Given the description of an element on the screen output the (x, y) to click on. 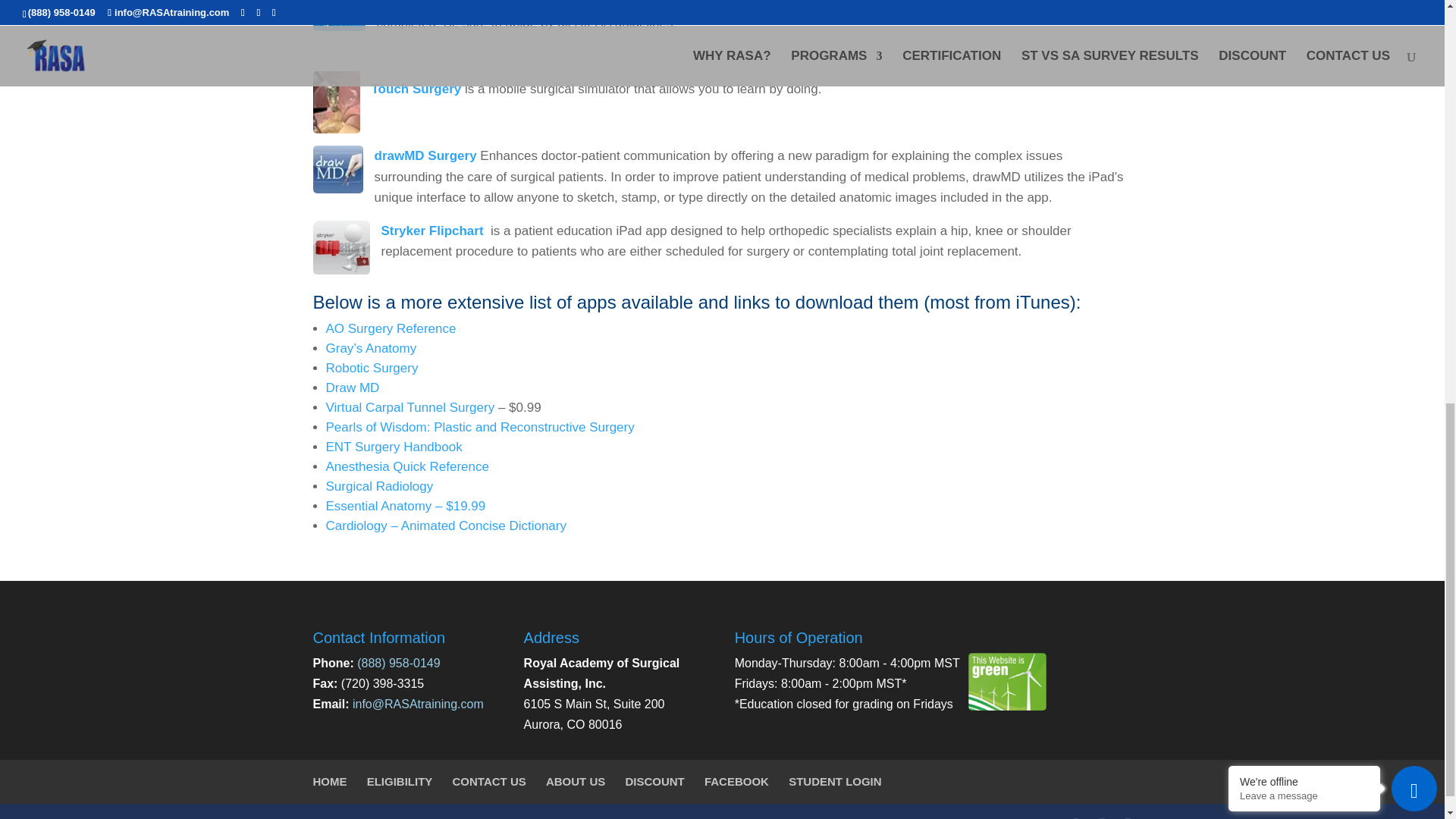
Procedure Log (339, 15)
Procedure Log (429, 4)
